Given the description of an element on the screen output the (x, y) to click on. 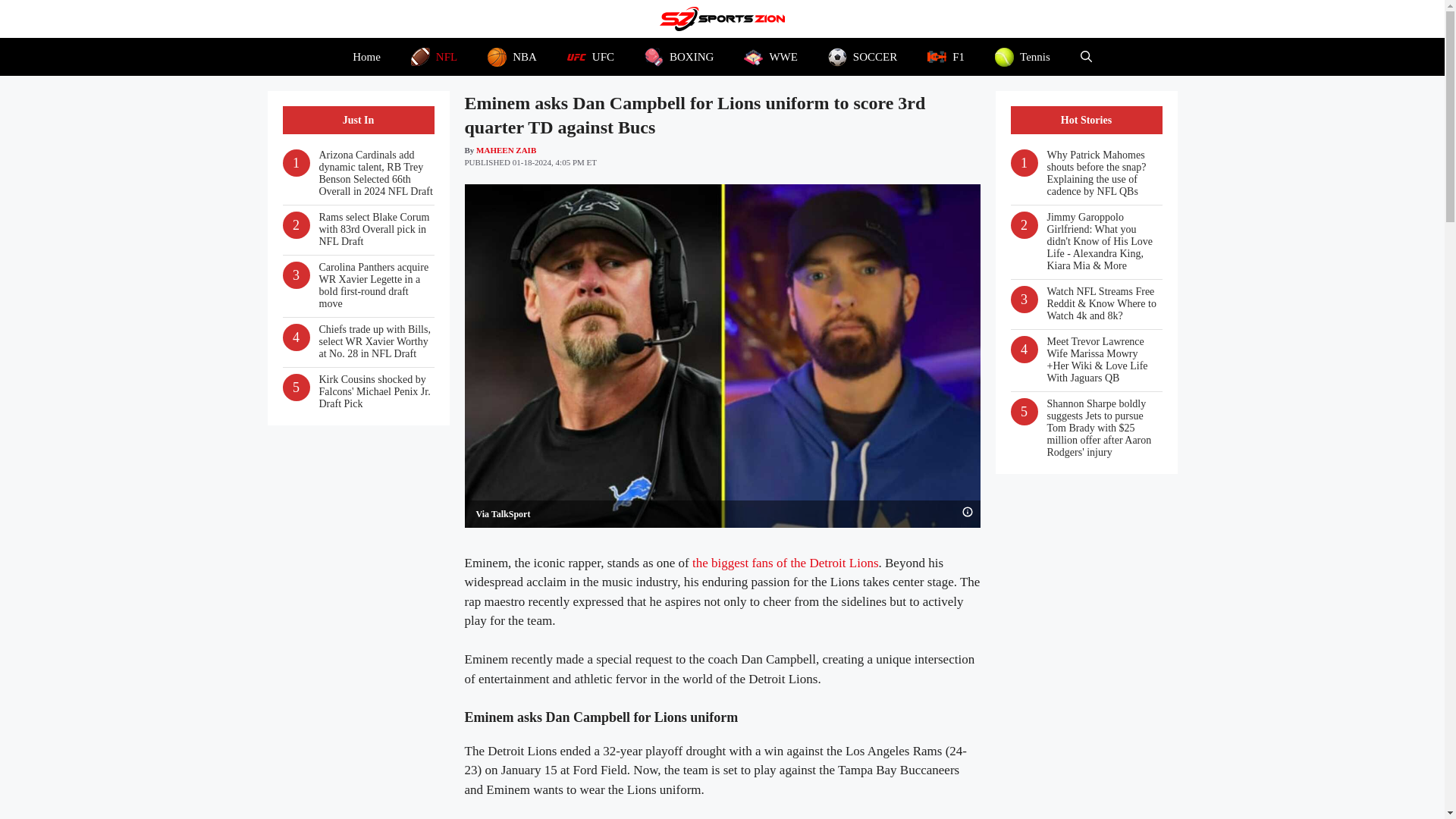
NFL (433, 56)
BOXING (678, 56)
Tennis (1022, 56)
NBA (511, 56)
UFC (589, 56)
Home (366, 56)
the biggest fans of the Detroit Lions (786, 563)
MAHEEN ZAIB (505, 149)
View all posts by Maheen Zaib (505, 149)
